Given the description of an element on the screen output the (x, y) to click on. 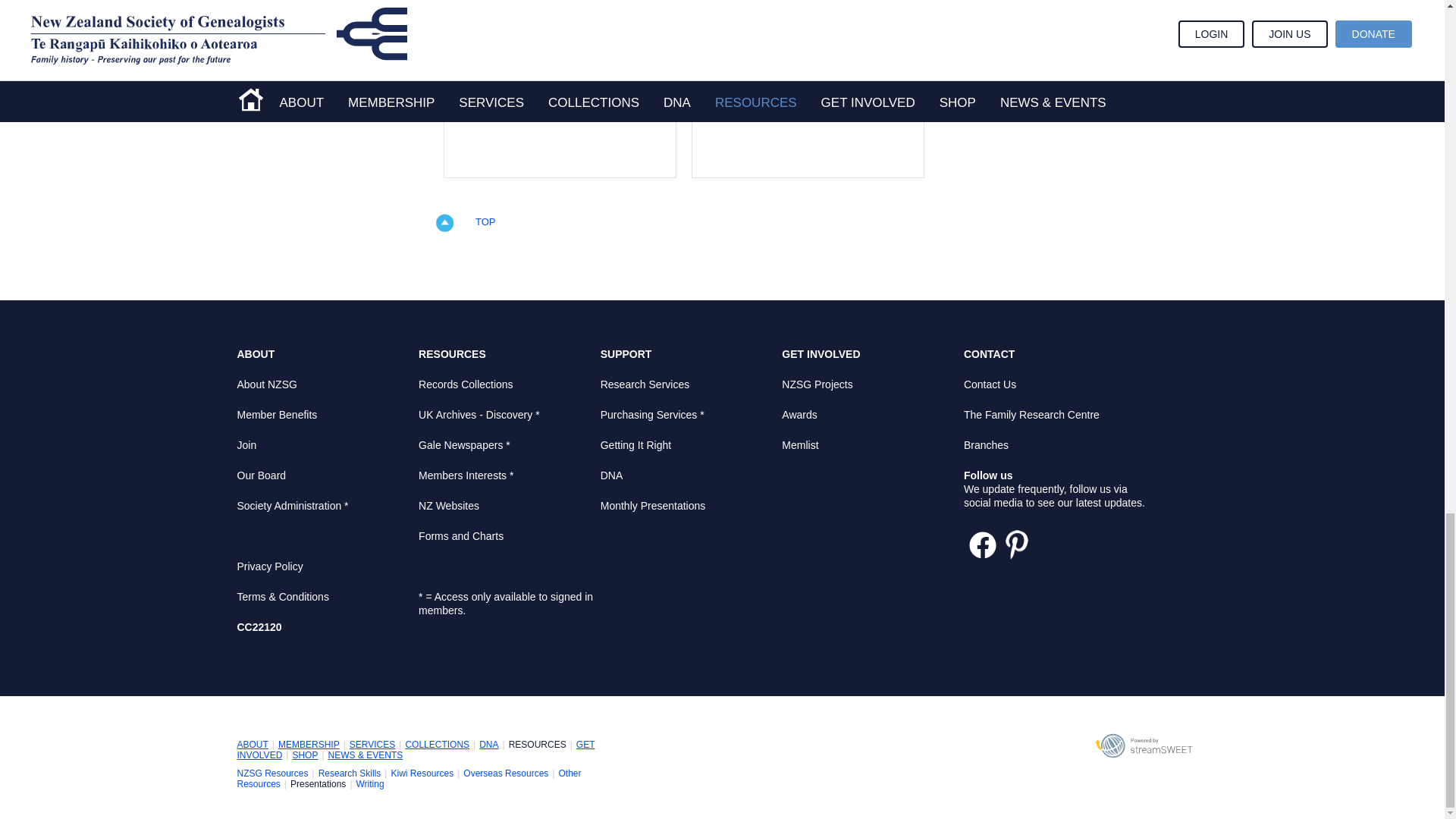
Facebook (982, 544)
